Given the description of an element on the screen output the (x, y) to click on. 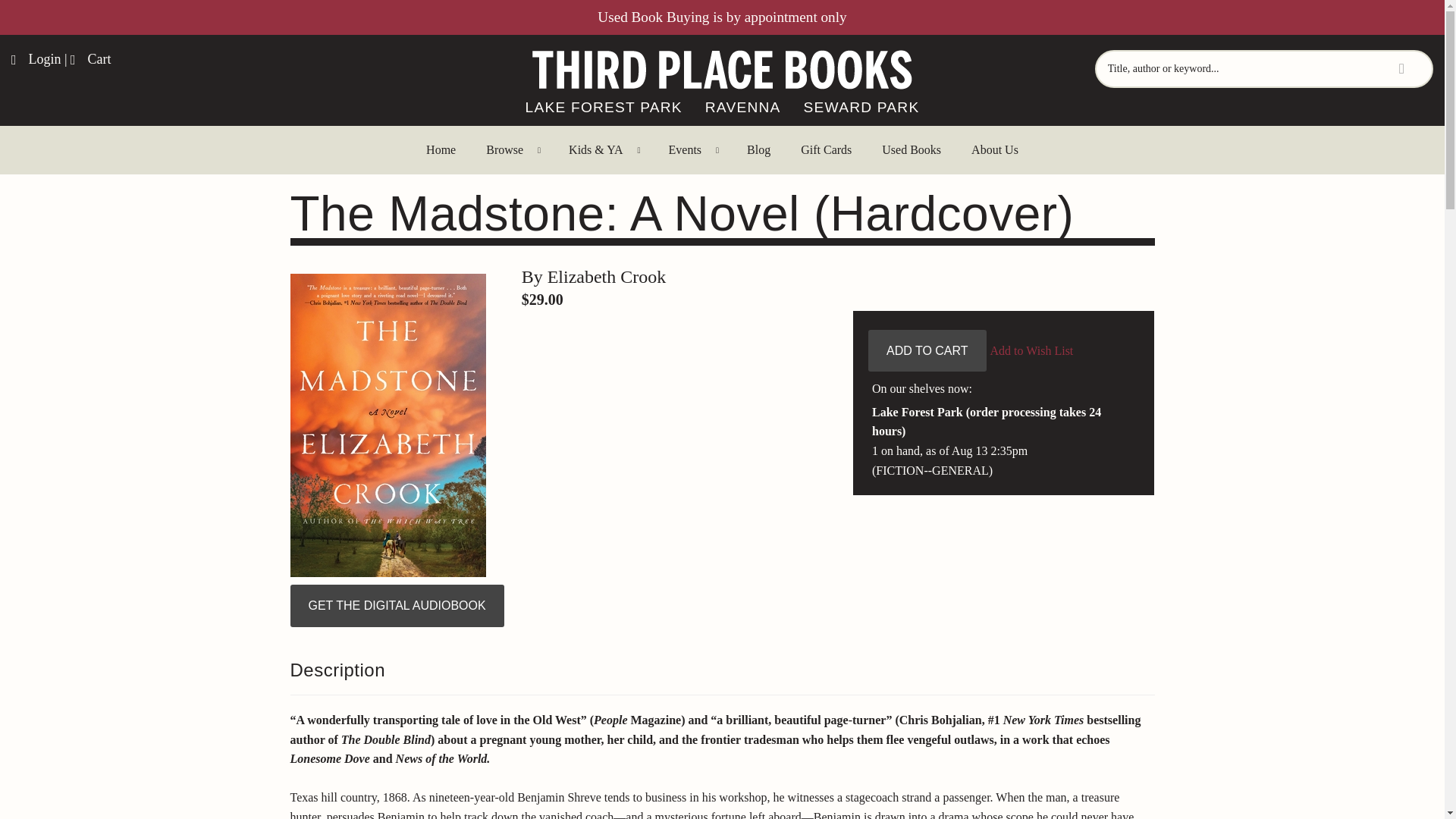
LAKE FOREST PARK (603, 107)
Used Books (911, 150)
Used Book Buying is by appointment only (720, 17)
Blog (759, 150)
 Login (36, 58)
Get the Digital Audiobook (396, 605)
Home (440, 150)
Get the Digital Audiobook (396, 605)
Elizabeth Crook (606, 276)
